Given the description of an element on the screen output the (x, y) to click on. 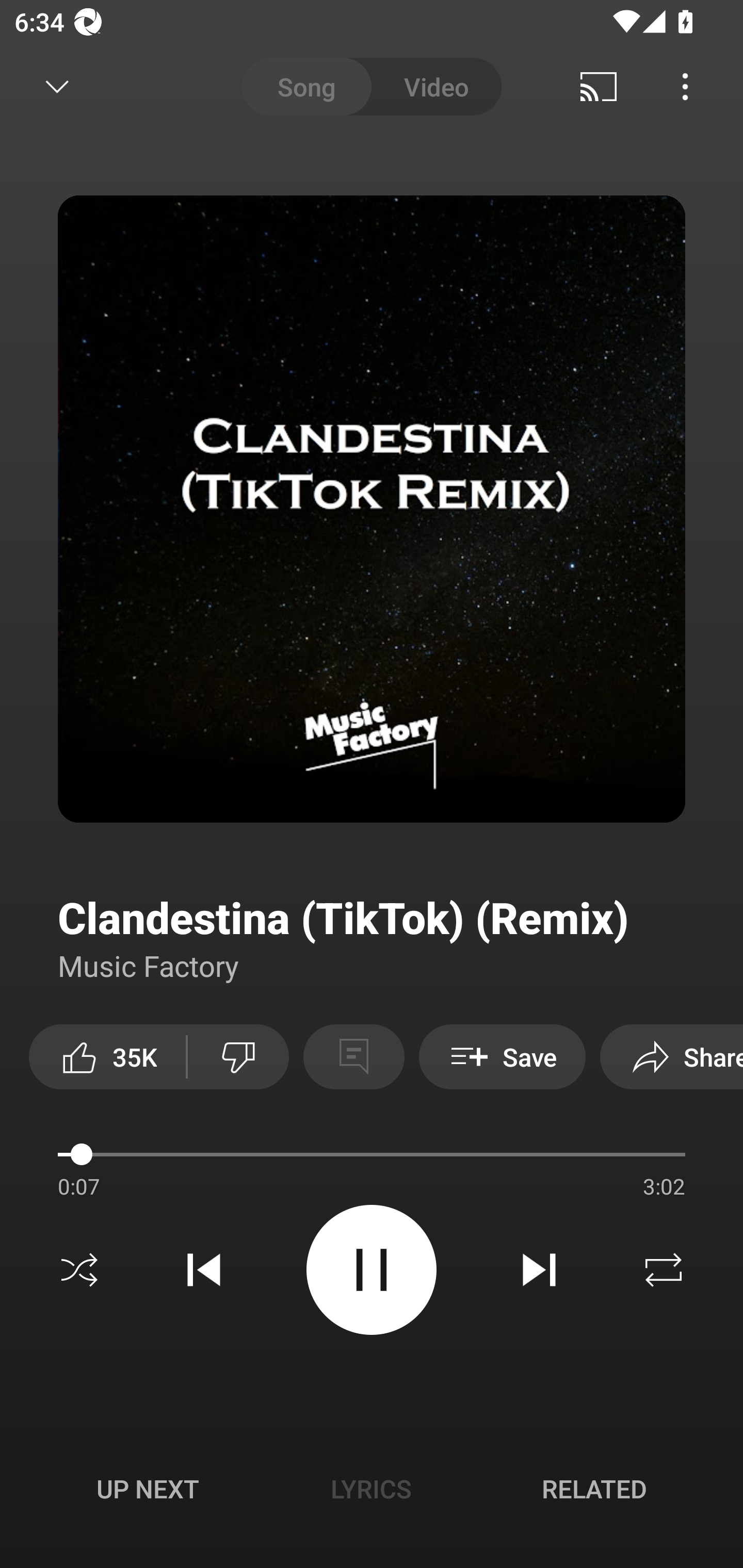
Minimize (57, 86)
Cast. Disconnected (598, 86)
Menu (684, 86)
Music Factory (148, 964)
35K like this video along with 35,710 other people (106, 1056)
Dislike (238, 1056)
Comments disabled. (353, 1056)
Save Save to playlist (502, 1056)
Share (671, 1056)
Pause video (371, 1269)
Shuffle off (79, 1269)
Previous track (203, 1269)
Next track (538, 1269)
Repeat off (663, 1269)
Up next UP NEXT Lyrics LYRICS Related RELATED (371, 1491)
Lyrics LYRICS (370, 1488)
Related RELATED (594, 1488)
